Given the description of an element on the screen output the (x, y) to click on. 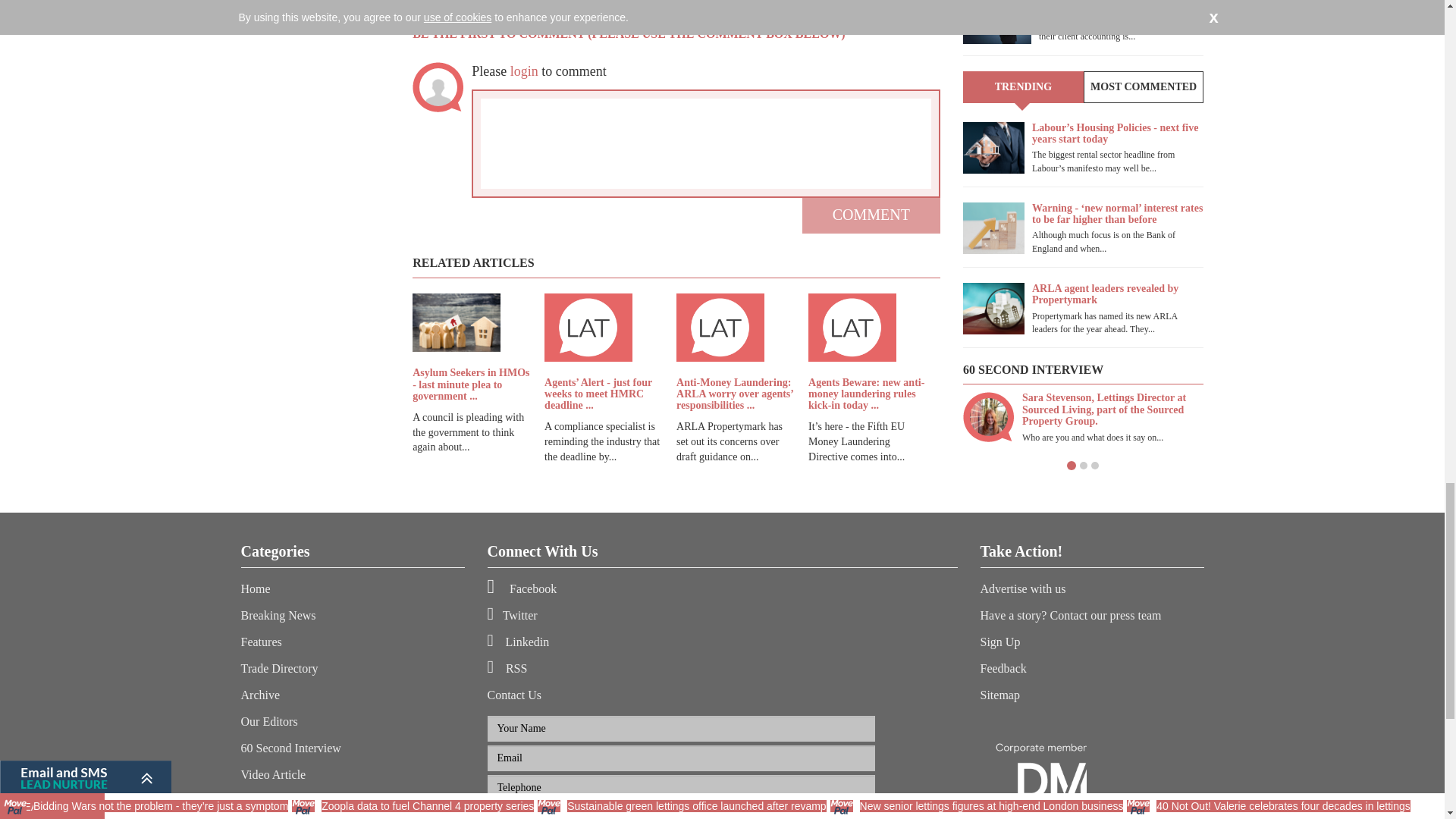
Comment (871, 214)
